Given the description of an element on the screen output the (x, y) to click on. 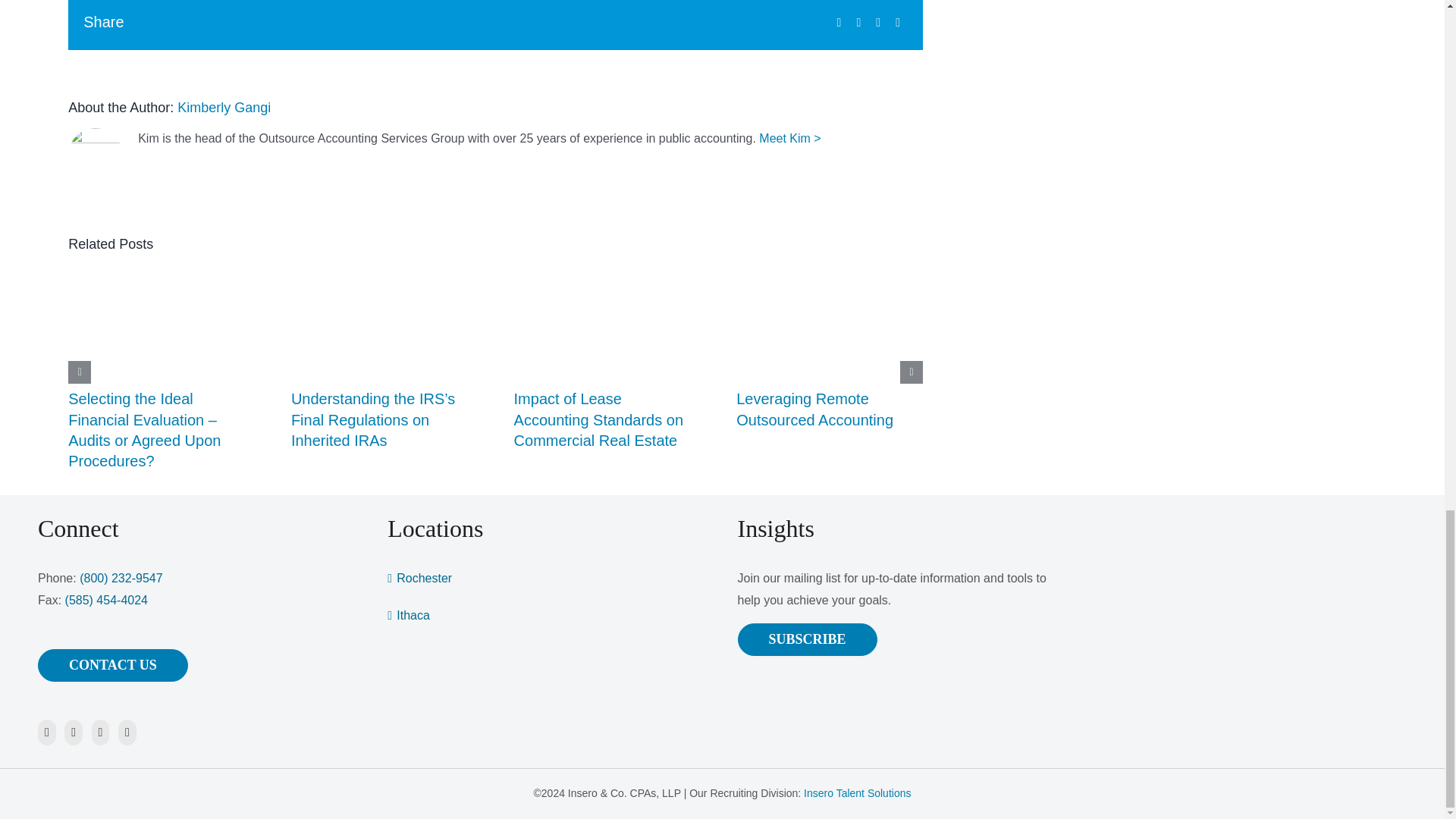
X (857, 23)
Leveraging Remote Outsourced Accounting (814, 408)
Facebook (838, 23)
LinkedIn (877, 23)
Email (897, 23)
